Given the description of an element on the screen output the (x, y) to click on. 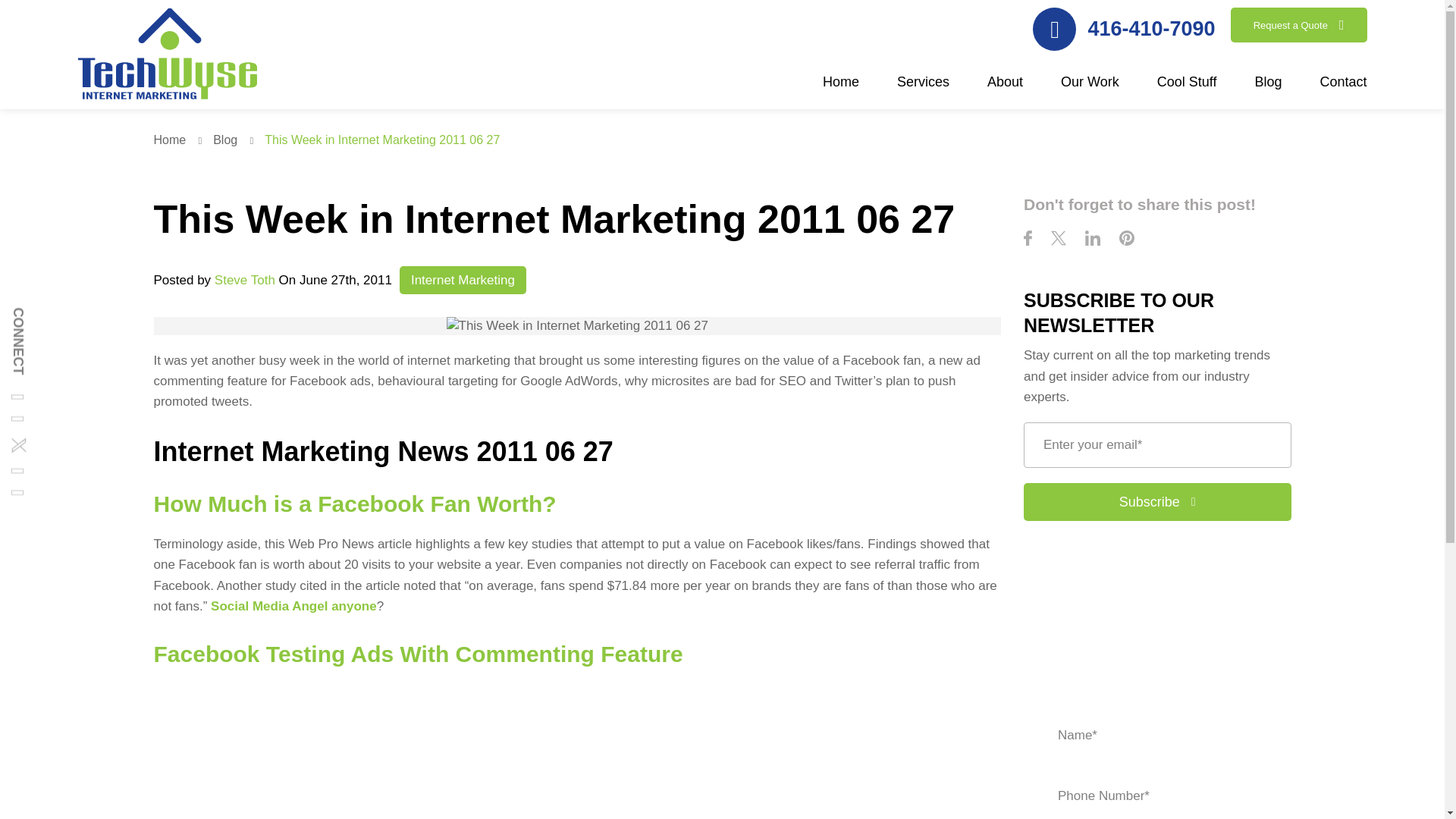
TechWyse Internet Marketing Toronto (166, 56)
Follow On Twitter (12, 450)
You Tube (7, 502)
Services (922, 90)
Home (840, 90)
Add To Facebook (7, 406)
Blog (236, 139)
Home (180, 139)
Facebook Testing Ads With Commenting Feature (531, 751)
Instagram (7, 428)
About (1005, 90)
Our Work (1090, 90)
LinkedIn (7, 480)
Posts by Steve Toth (244, 279)
Request a Quote (1298, 24)
